Given the description of an element on the screen output the (x, y) to click on. 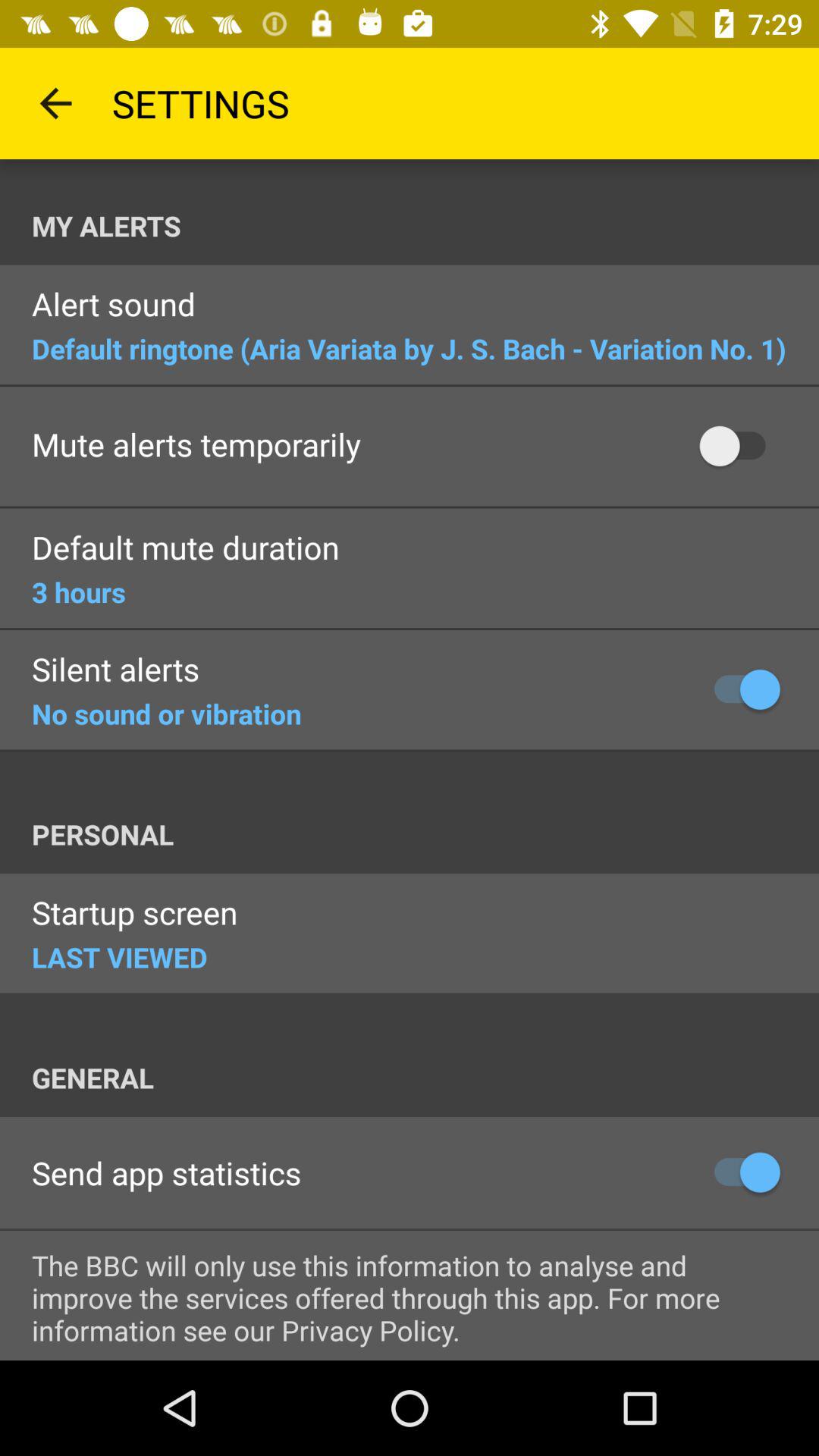
launch icon below default mute duration item (78, 591)
